Given the description of an element on the screen output the (x, y) to click on. 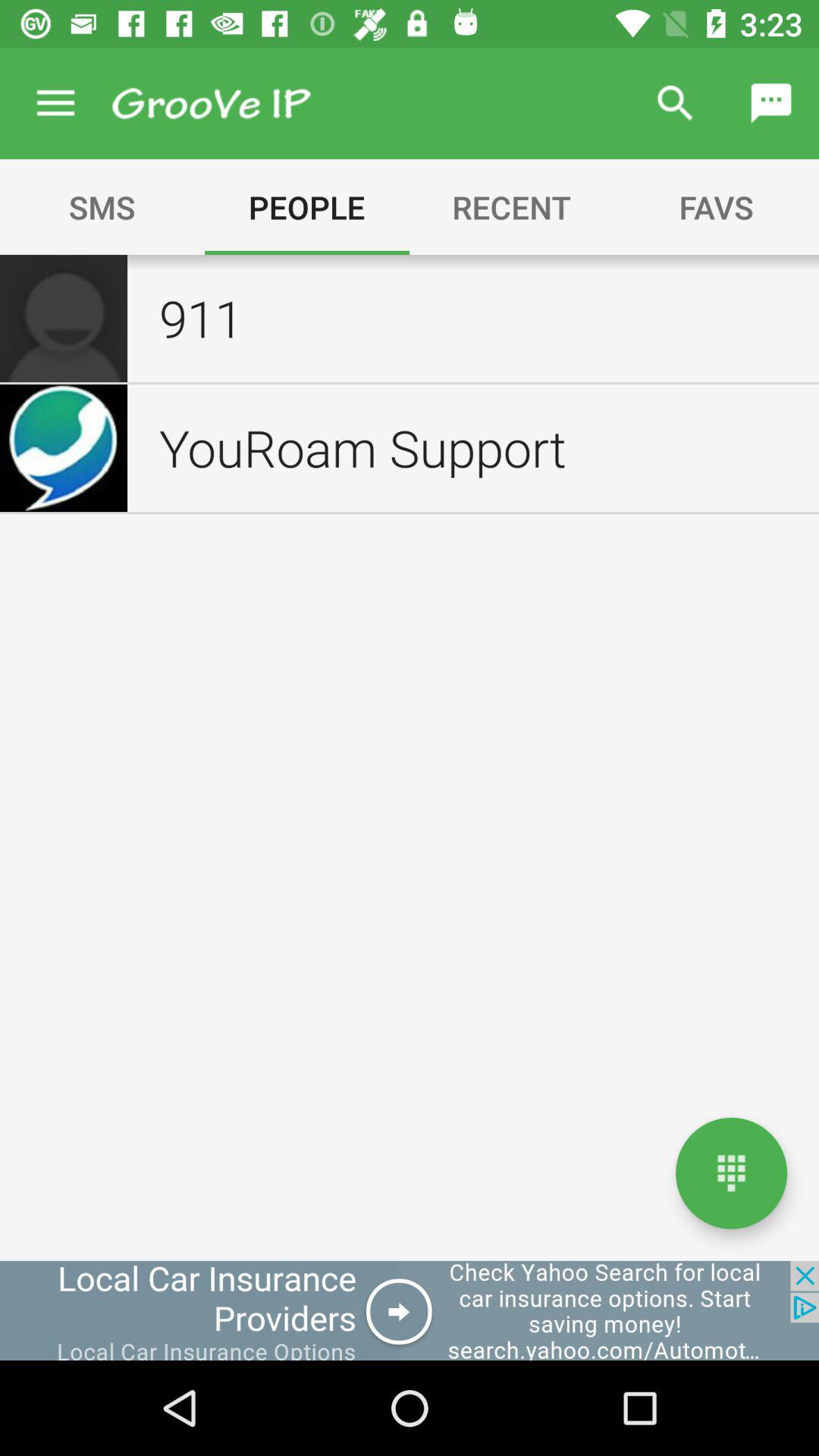
open the home page (731, 1173)
